Given the description of an element on the screen output the (x, y) to click on. 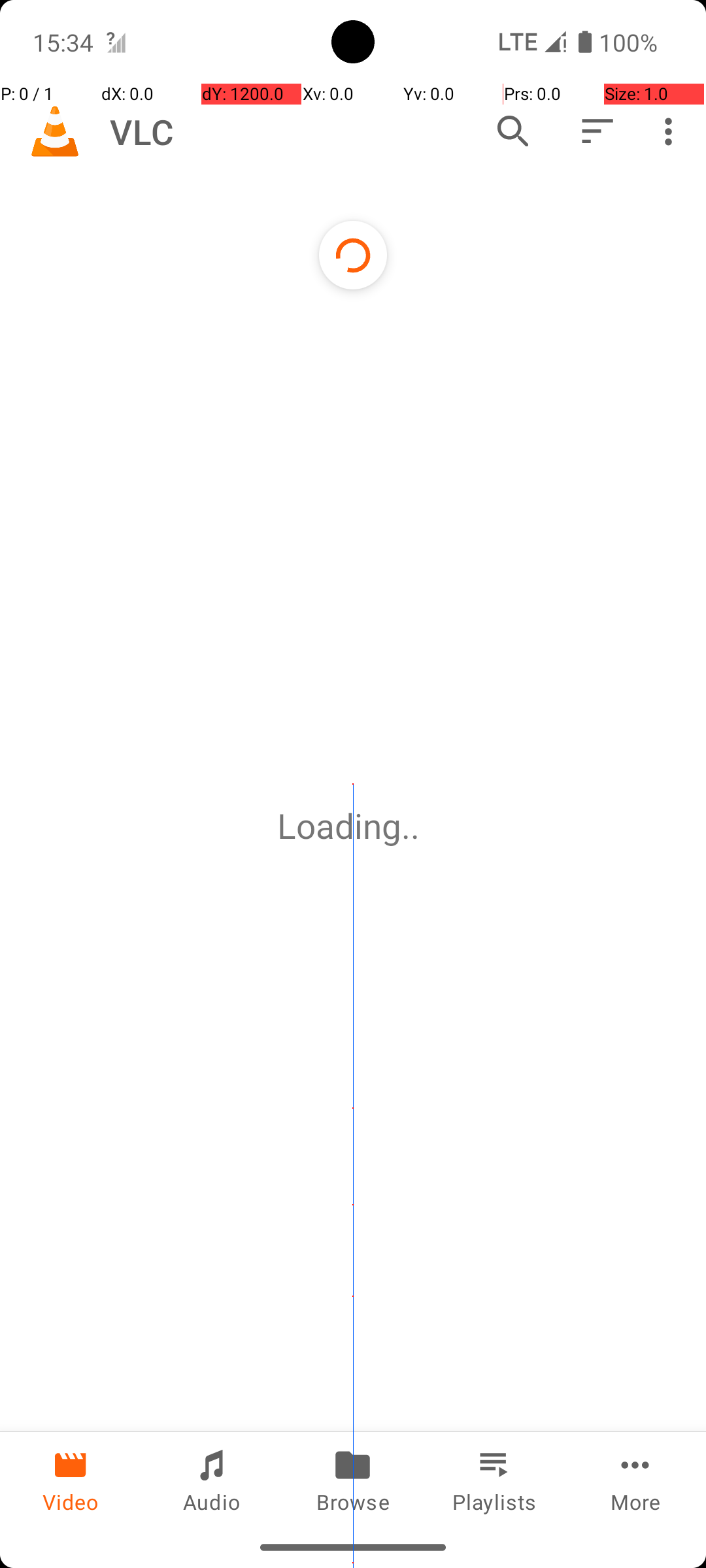
.. Element type: android.widget.TextView (414, 825)
